Given the description of an element on the screen output the (x, y) to click on. 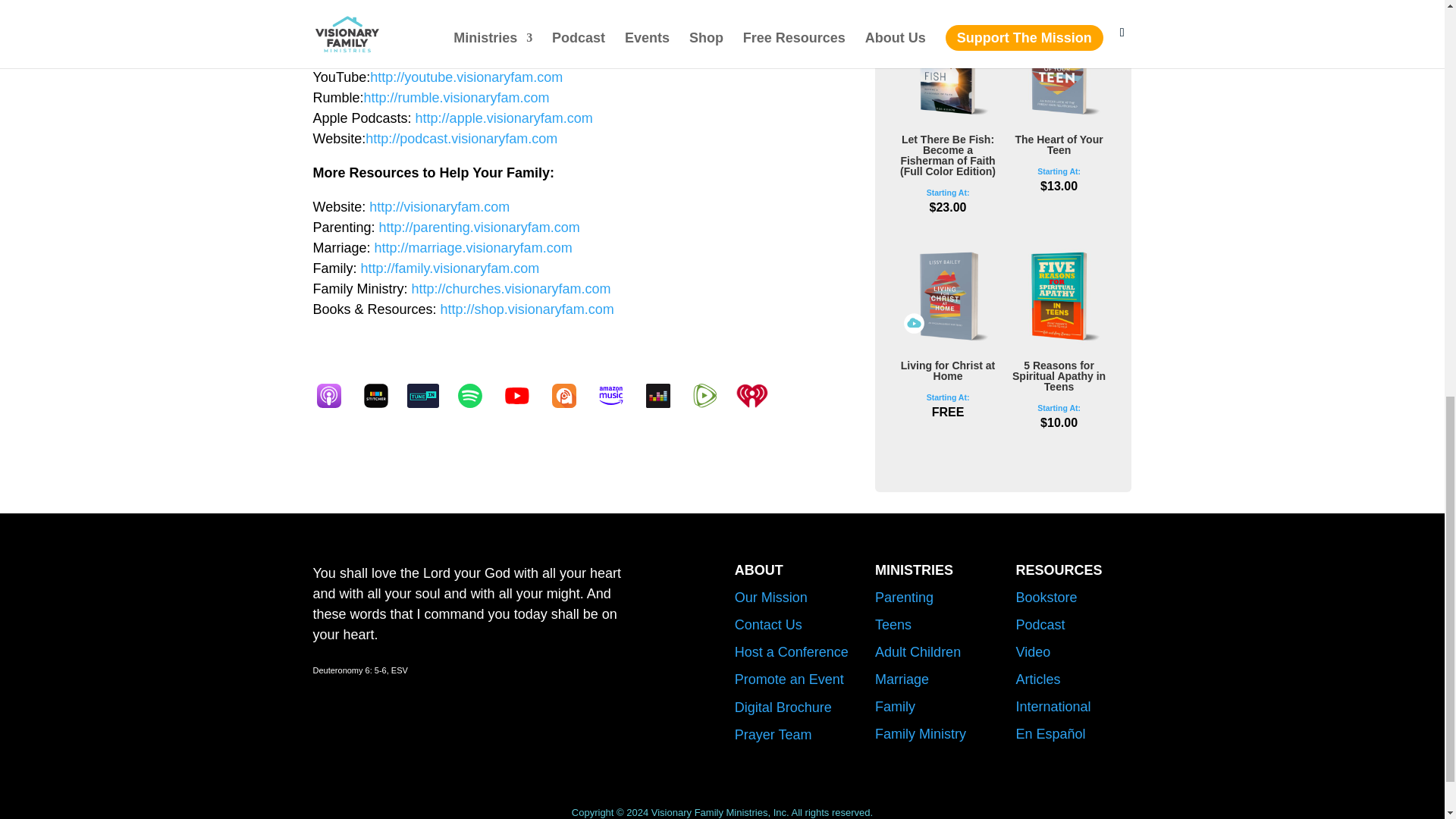
Apple-Podcasts (336, 395)
Deezer (665, 395)
Stitcher (382, 395)
Our Ministry (771, 597)
Amazon-Music (618, 395)
Contact Us (768, 624)
YouTube (523, 395)
Rumble (711, 395)
TuneIn (429, 395)
iHeartRadio (759, 395)
Read: Deuteronomy 6: 5-6 (360, 669)
Podcast-Addict (570, 395)
Spotify (476, 395)
